Given the description of an element on the screen output the (x, y) to click on. 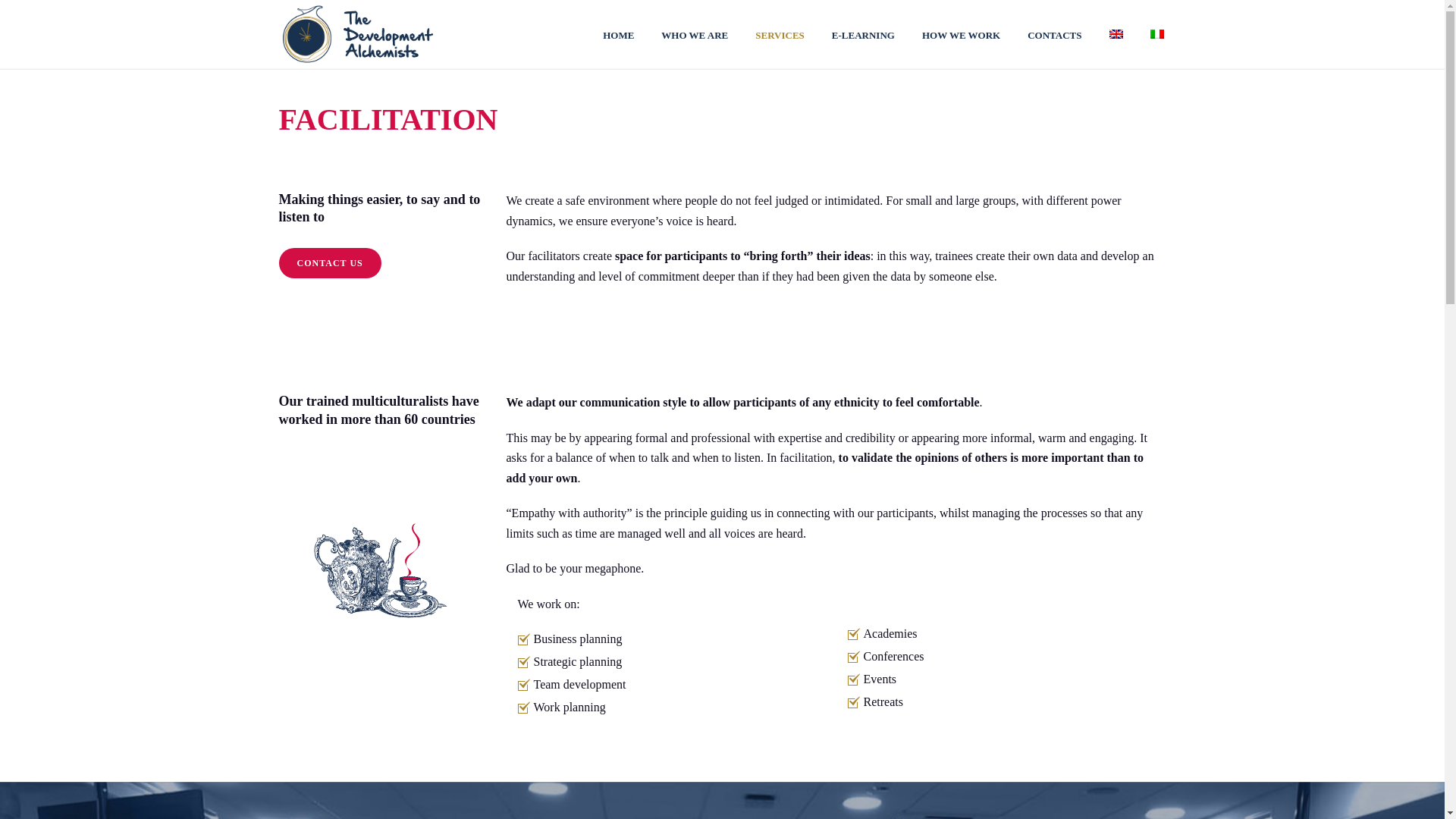
CONTACT US (330, 263)
CONTACTS (1053, 33)
WHO WE ARE (694, 33)
CONTACT US (330, 263)
HOW WE WORK (960, 33)
WHO WE ARE (694, 33)
CONTACTS (1053, 33)
Capacity development services for people and organisations. (357, 33)
E-LEARNING (863, 33)
SERVICES (779, 33)
SERVICES (779, 33)
HOW WE WORK (960, 33)
E-LEARNING (863, 33)
sfondi-tda-mobile-02 (381, 559)
